Given the description of an element on the screen output the (x, y) to click on. 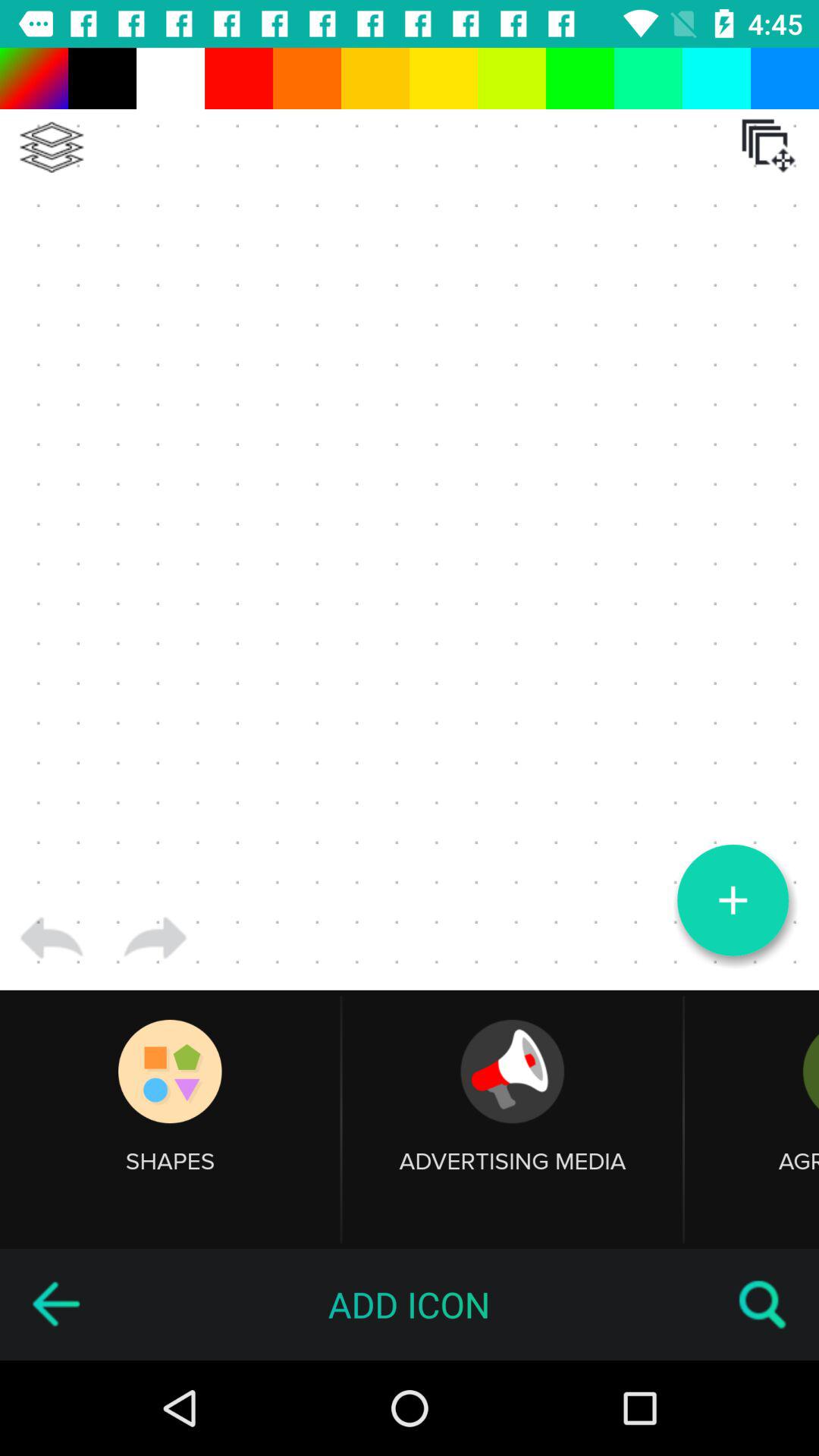
turn off item at the top left corner (51, 147)
